Given the description of an element on the screen output the (x, y) to click on. 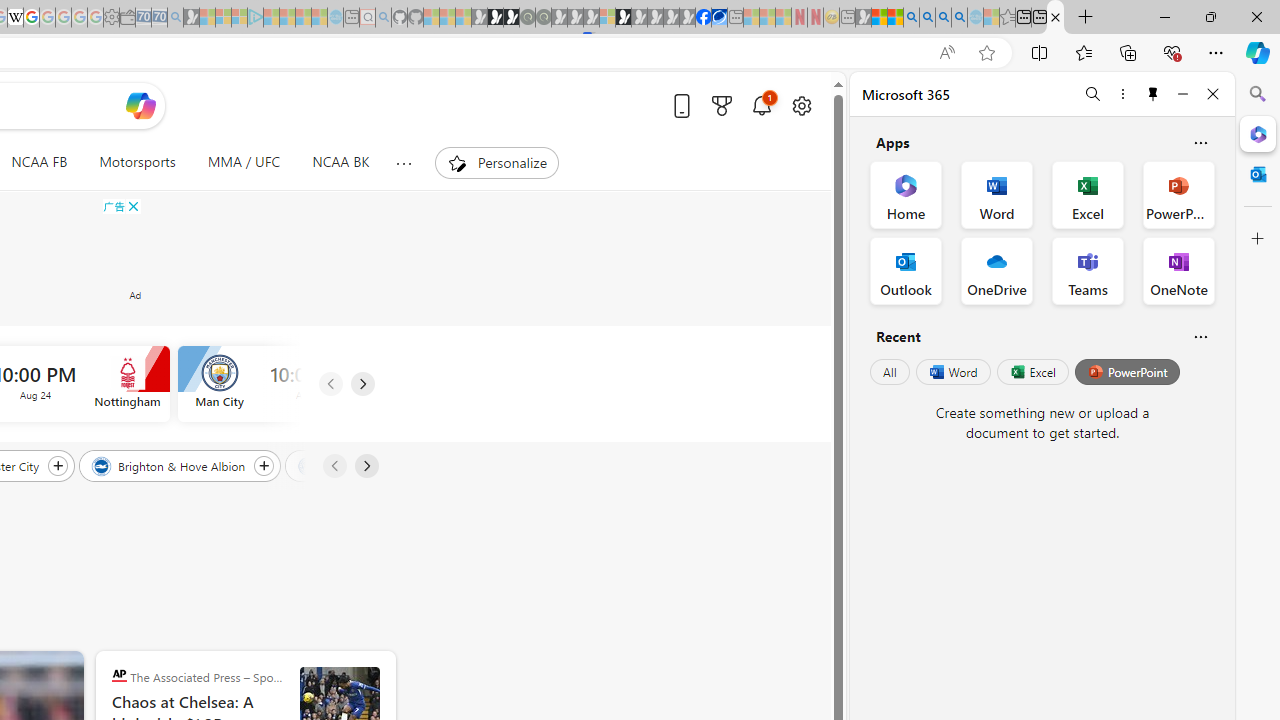
OneNote Office App (1178, 270)
Follow Brighton & Hove Albion (264, 465)
Close Microsoft 365 pane (1258, 133)
Motorsports (137, 162)
Favorites - Sleeping (1007, 17)
Word (952, 372)
AutomationID: cbb (132, 205)
